Given the description of an element on the screen output the (x, y) to click on. 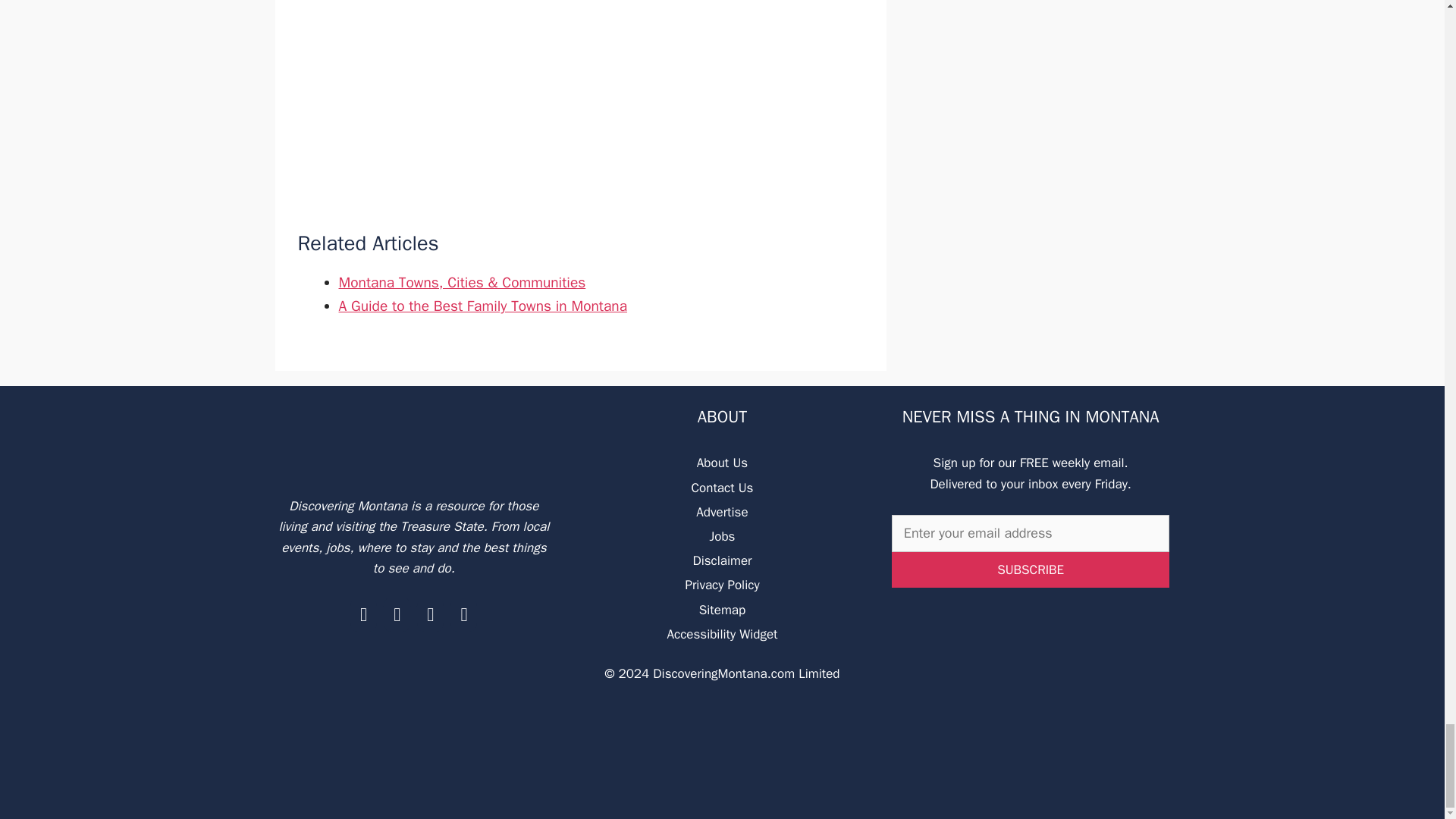
Travel to Montana Blog (414, 439)
DMCA.com Protection Status (721, 793)
Subscribe (1030, 570)
YouTube video player (580, 100)
